Given the description of an element on the screen output the (x, y) to click on. 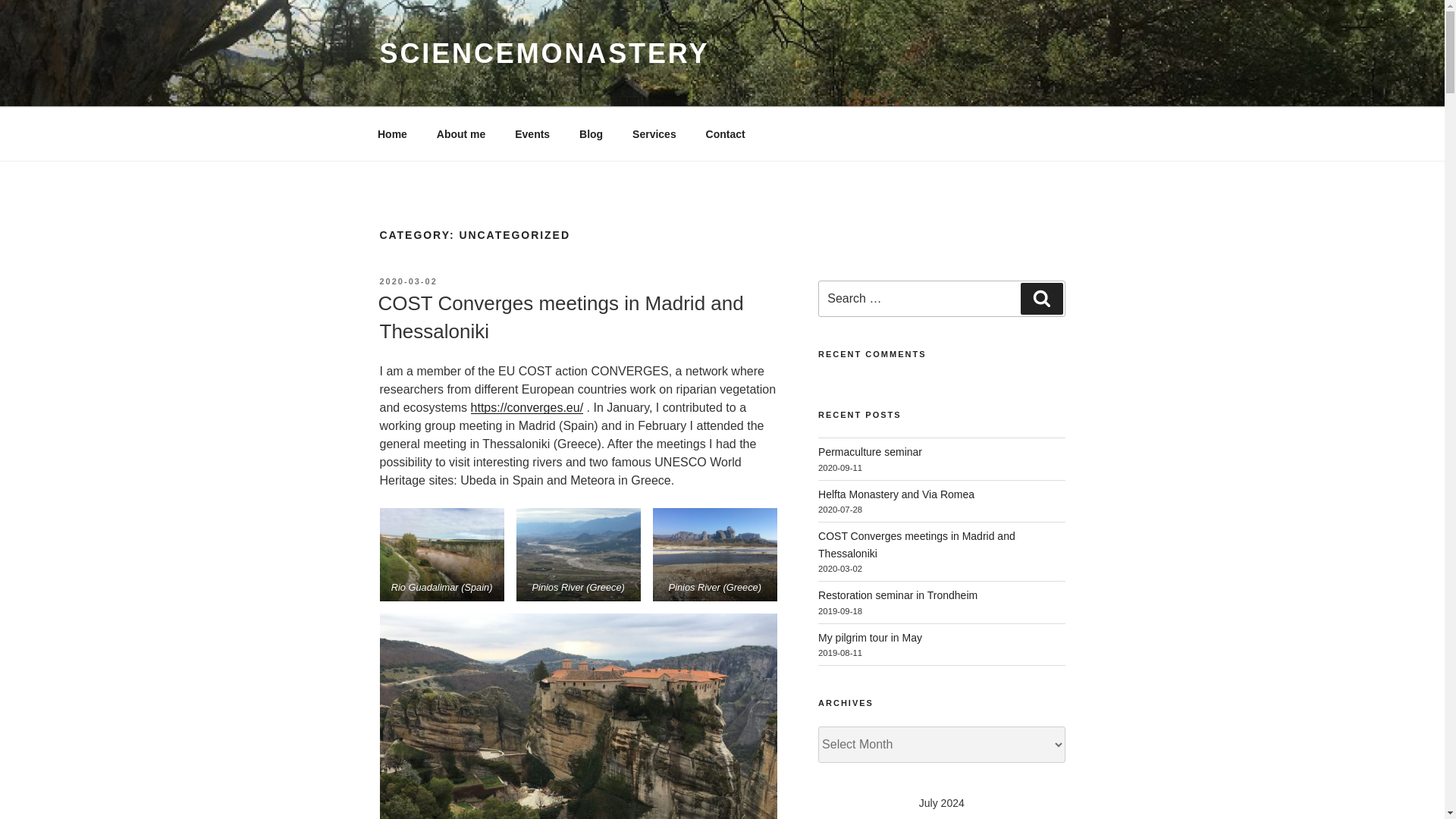
My pilgrim tour in May (869, 637)
SCIENCEMONASTERY (543, 52)
Services (655, 133)
Blog (590, 133)
Wednesday (904, 815)
Friday (978, 815)
Home (392, 133)
Restoration seminar in Trondheim (897, 594)
2020-03-02 (407, 280)
Contact (725, 133)
Permaculture seminar (869, 451)
Search (1041, 298)
Sunday (1049, 815)
COST Converges meetings in Madrid and Thessaloniki (916, 543)
Thursday (941, 815)
